Given the description of an element on the screen output the (x, y) to click on. 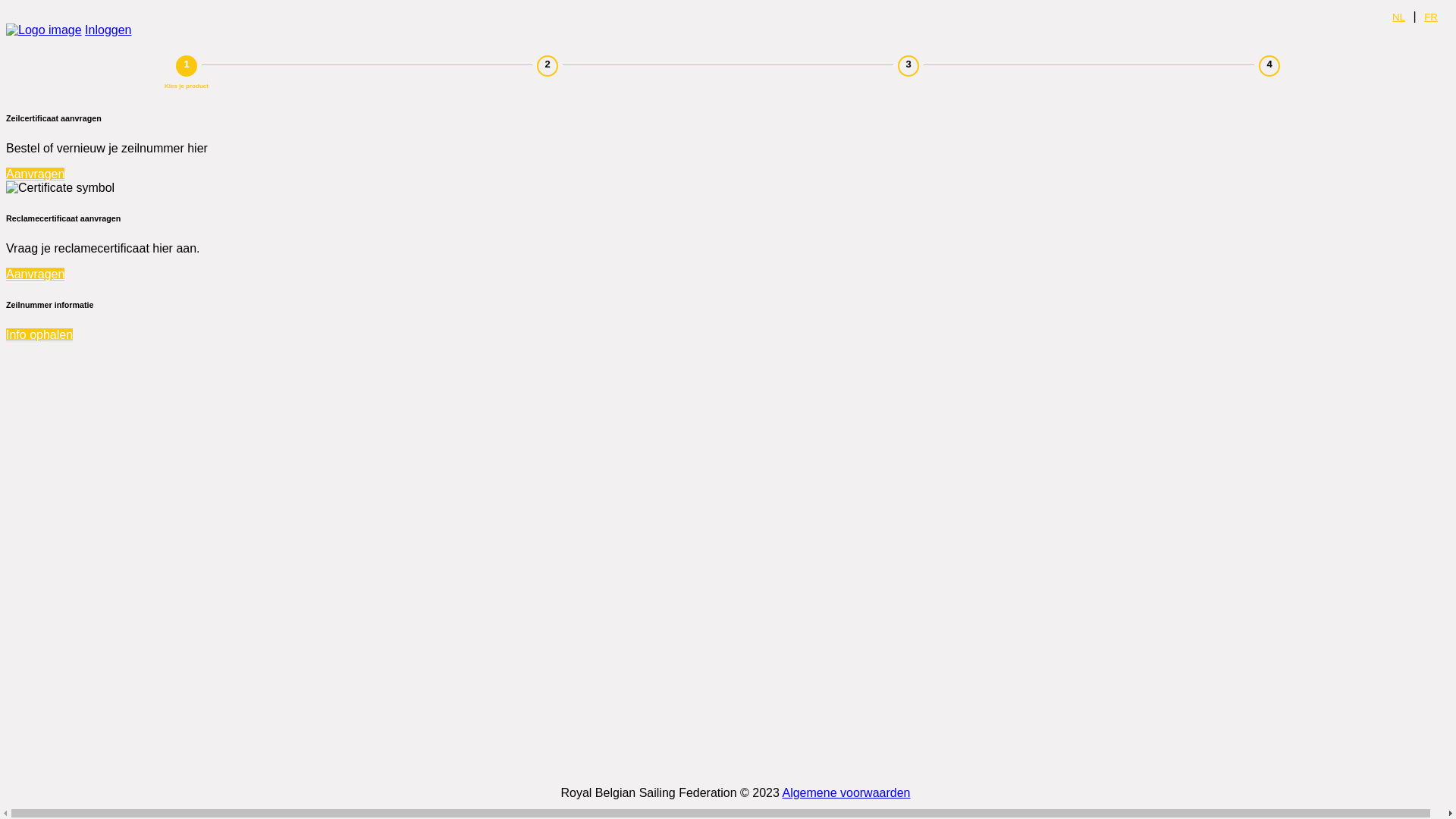
Info ophalen Element type: text (39, 334)
FR Element type: text (1430, 16)
Aanvragen Element type: text (35, 273)
Inloggen Element type: text (107, 29)
Algemene voorwaarden Element type: text (845, 792)
NL Element type: text (1398, 16)
Aanvragen Element type: text (35, 173)
